Given the description of an element on the screen output the (x, y) to click on. 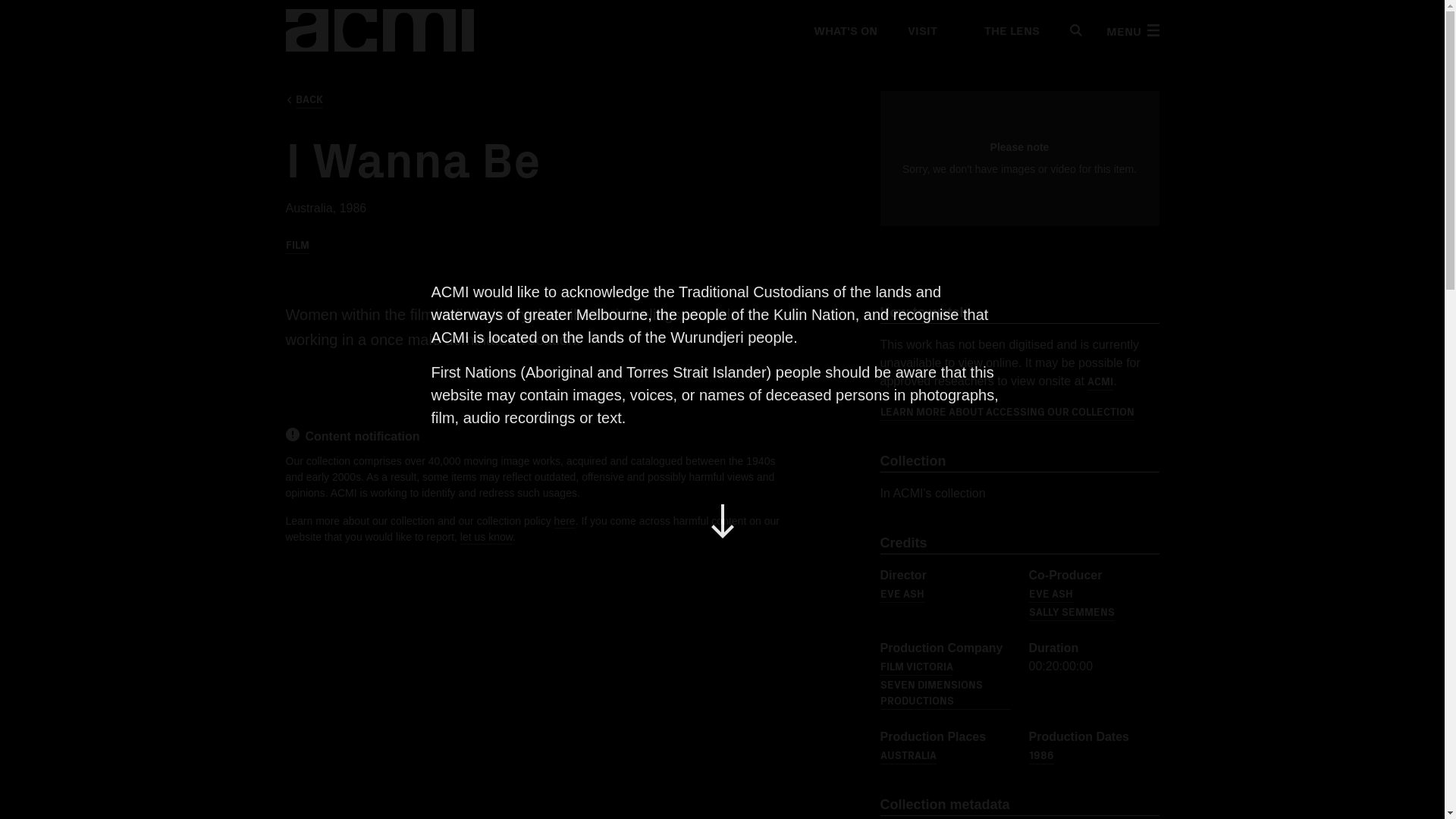
THE LENS (1003, 30)
WHAT'S ON (844, 30)
VISIT (921, 30)
MENU (1131, 29)
